Given the description of an element on the screen output the (x, y) to click on. 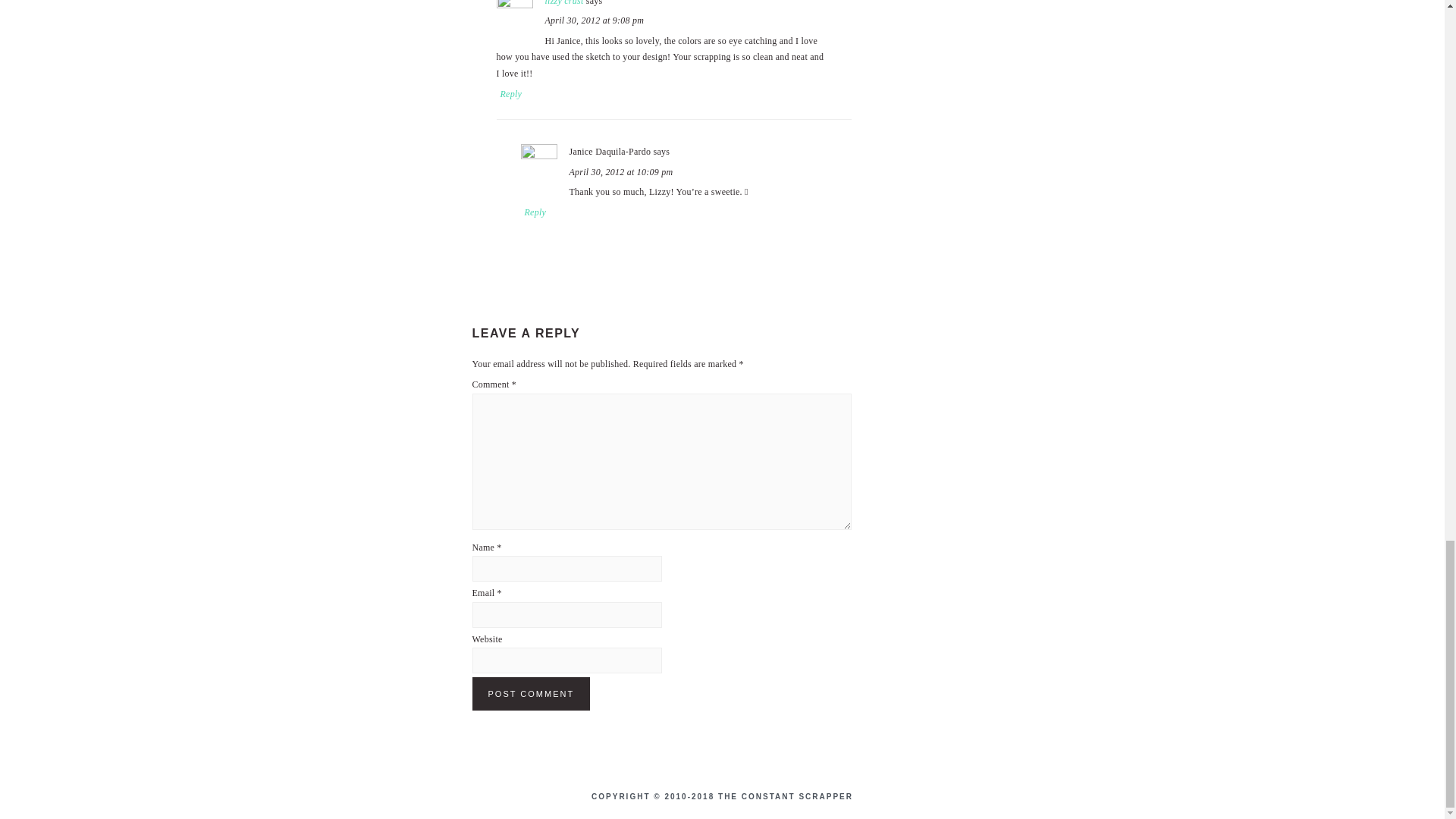
Reply (534, 212)
April 30, 2012 at 10:09 pm (620, 172)
lizzy crust (563, 2)
Post Comment (530, 693)
Reply (510, 93)
April 30, 2012 at 9:08 pm (593, 20)
Post Comment (530, 693)
